Given the description of an element on the screen output the (x, y) to click on. 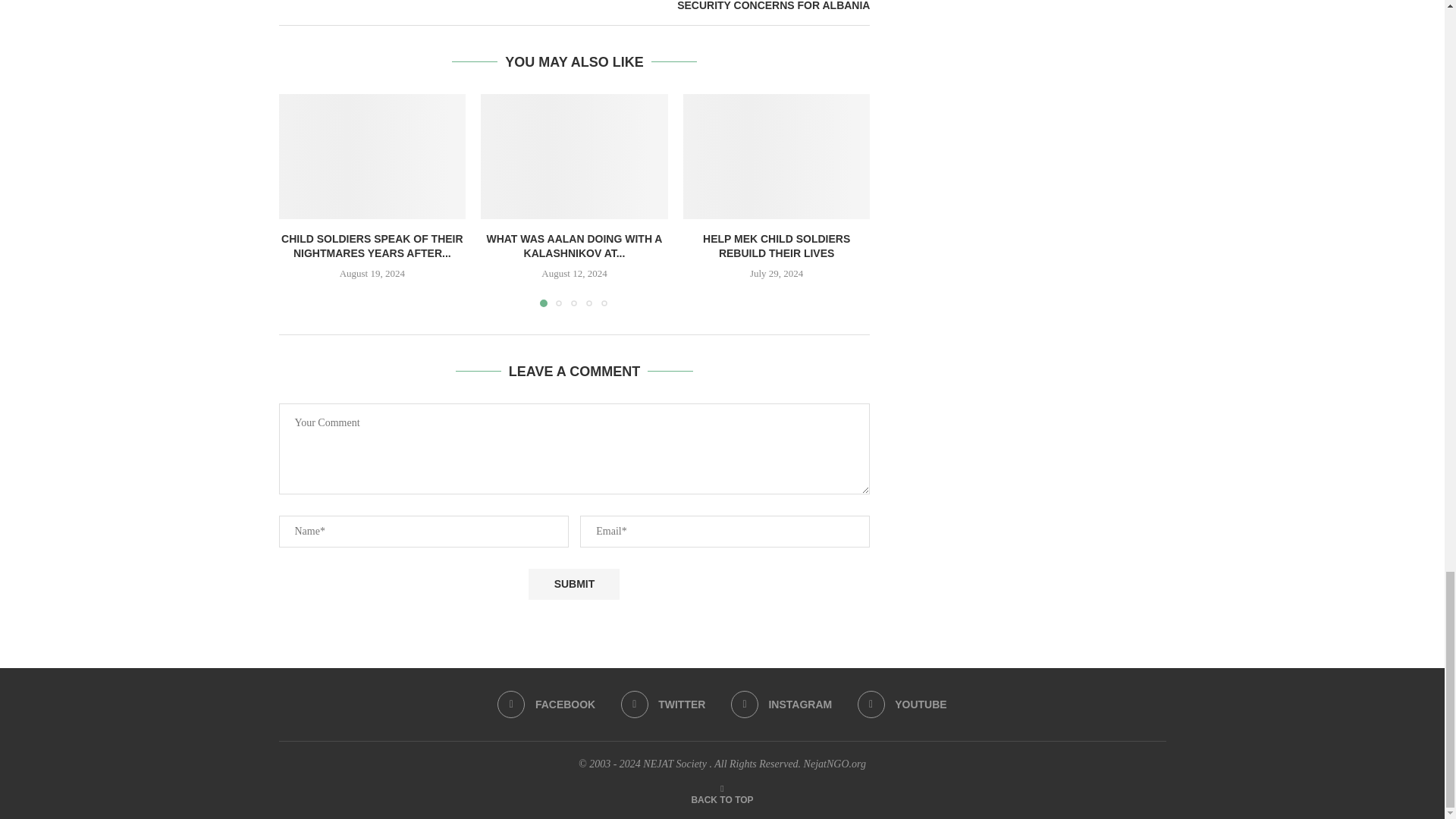
Submit (574, 583)
Help MEK Child Soldiers Rebuild their Lives (776, 156)
